Given the description of an element on the screen output the (x, y) to click on. 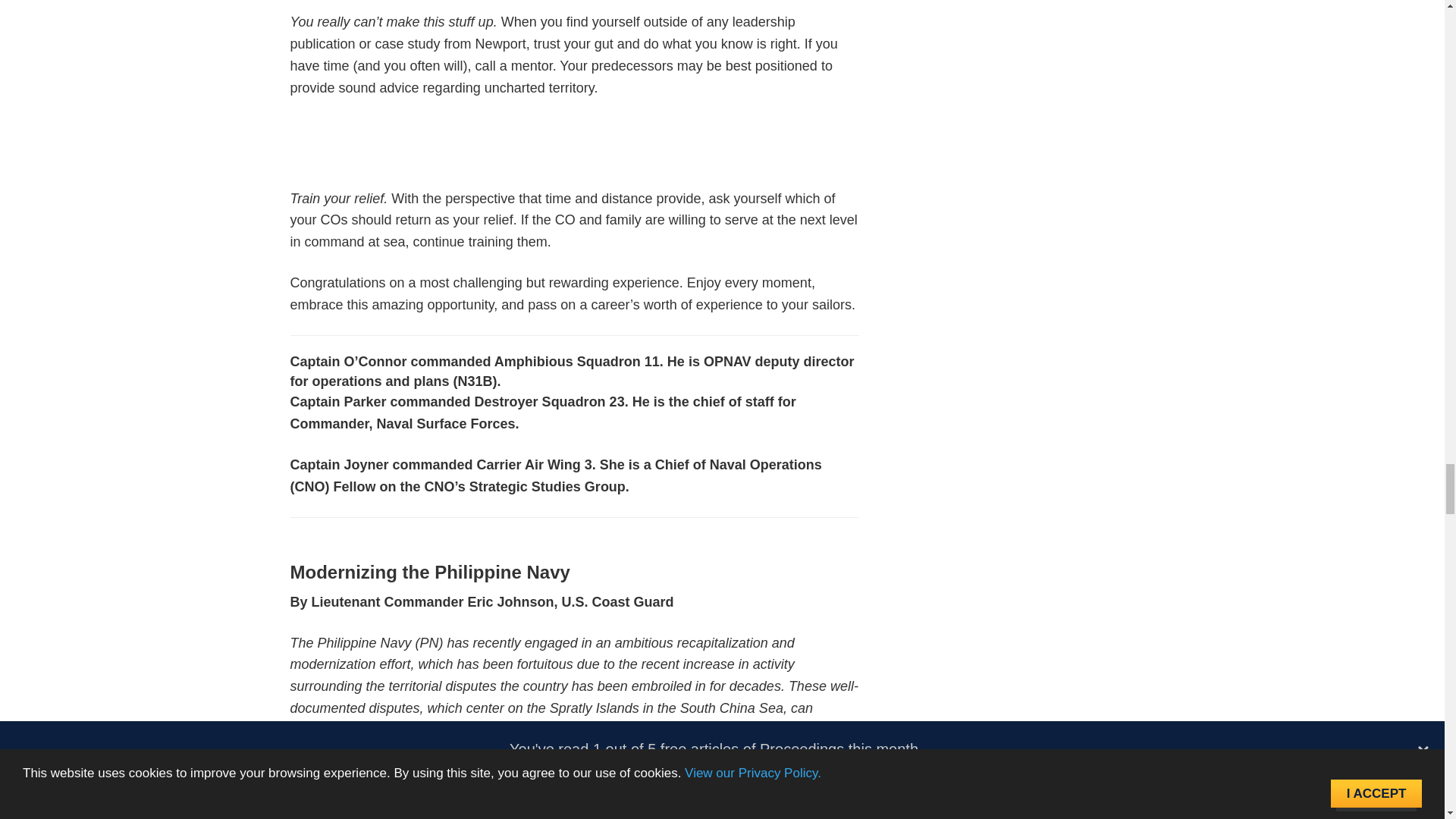
3rd party ad content (574, 153)
